Given the description of an element on the screen output the (x, y) to click on. 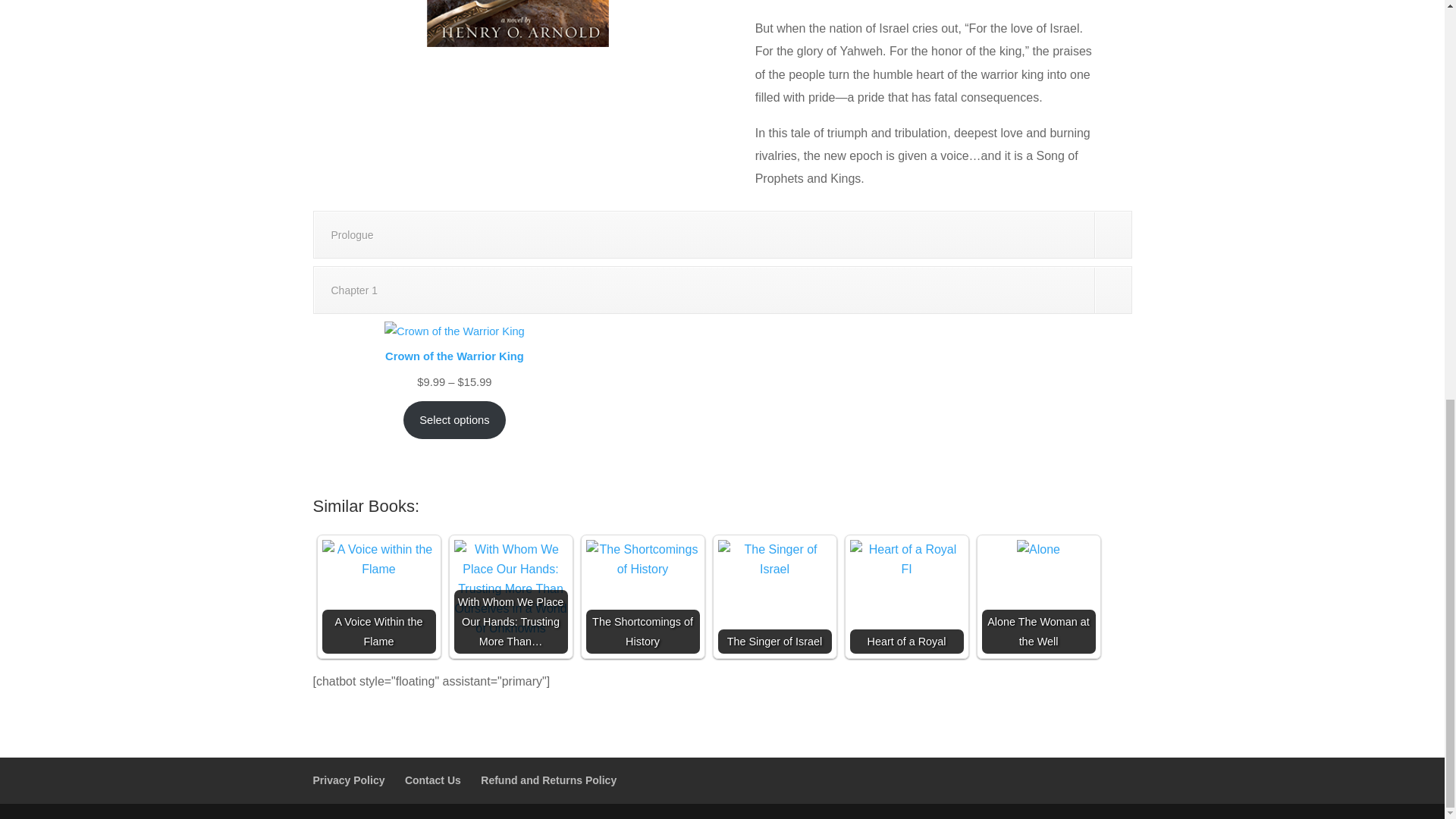
Alone The Woman at the Well (1037, 549)
The Shortcomings of History (641, 559)
Heart of a Royal (905, 559)
The Singer of Israel (774, 559)
A Voice Within the Flame (378, 559)
